Given the description of an element on the screen output the (x, y) to click on. 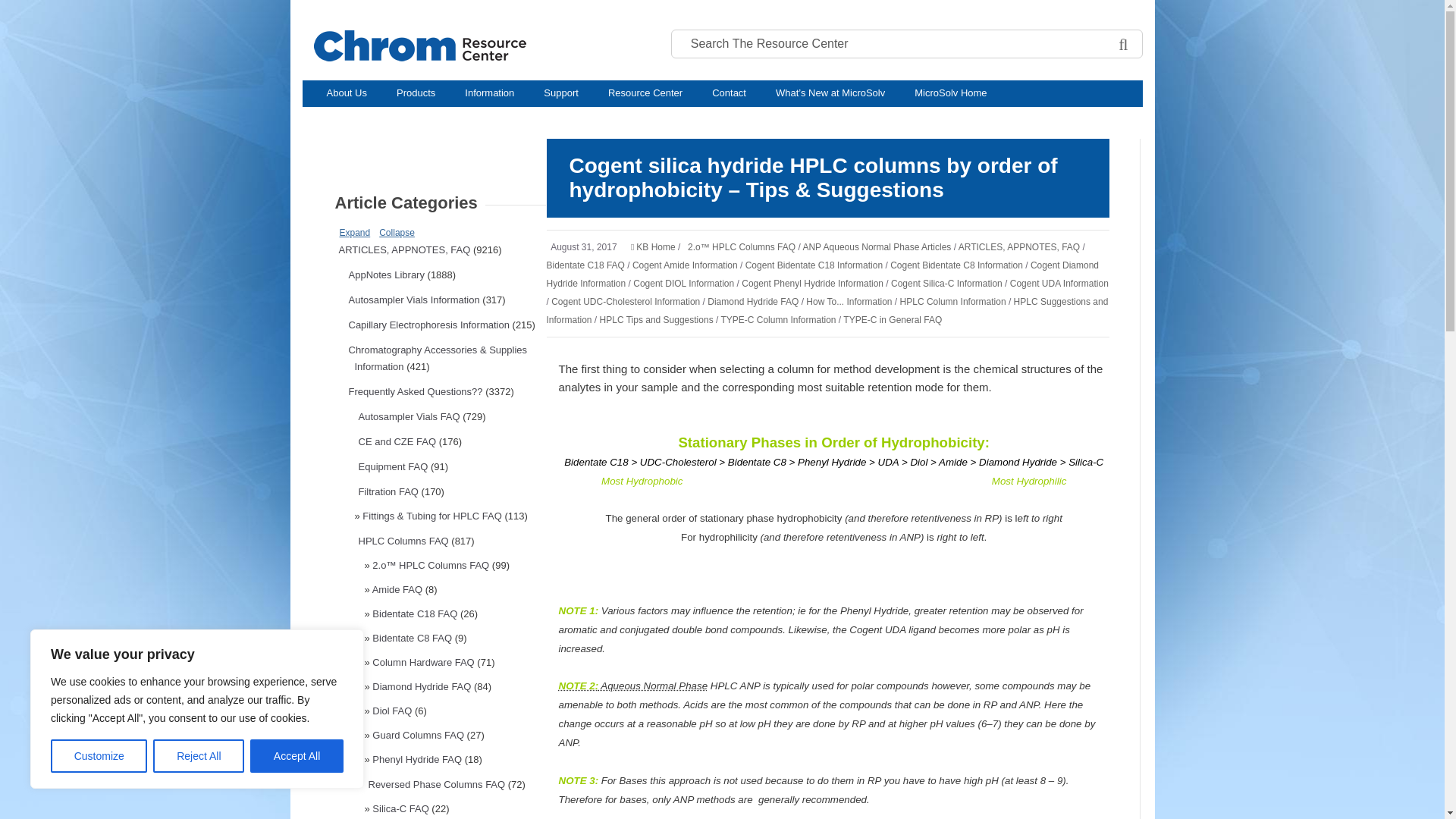
Accept All (296, 756)
View all posts filed under ARTICLES, APPNOTES, FAQ (403, 249)
Search The Resource Center (859, 43)
View all posts filed under AppNotes Library (387, 274)
Customize (98, 756)
Reject All (198, 756)
MicroSolv Technology Corporation (473, 45)
